Given the description of an element on the screen output the (x, y) to click on. 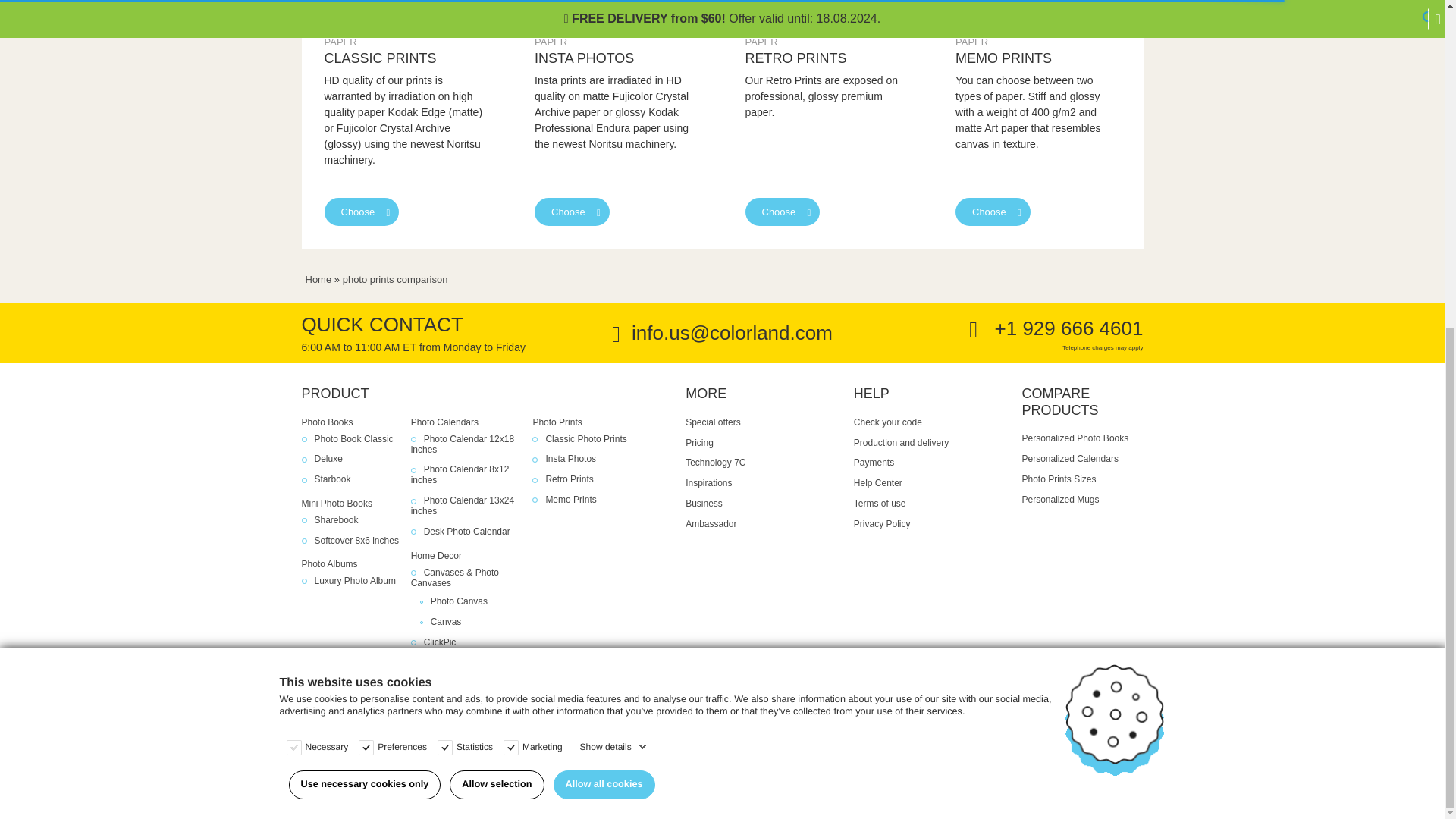
Allow all cookies (604, 242)
Show details (612, 204)
Allow selection (496, 242)
Use necessary cookies only (364, 242)
